Given the description of an element on the screen output the (x, y) to click on. 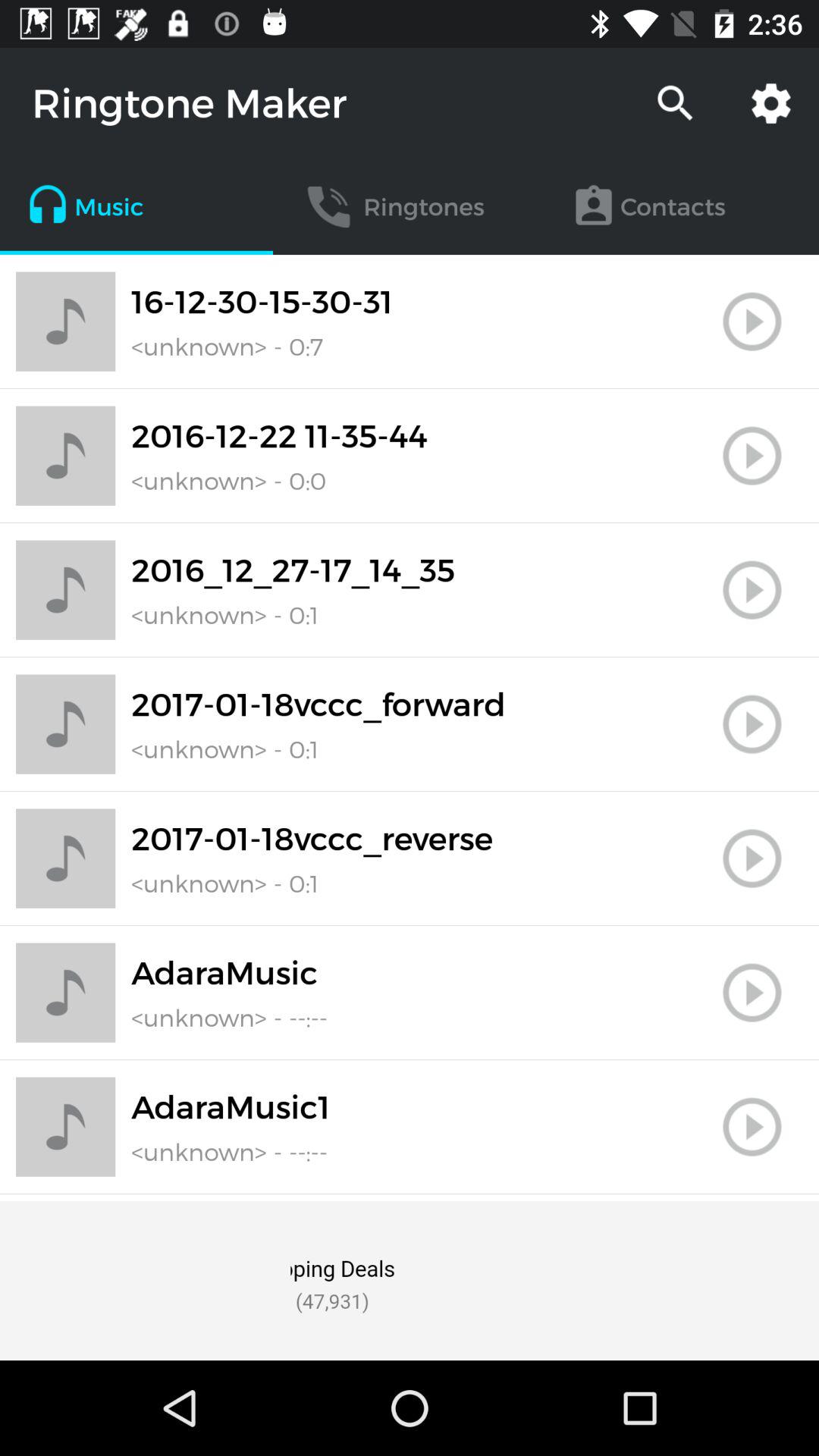
go to play option (752, 1126)
